Given the description of an element on the screen output the (x, y) to click on. 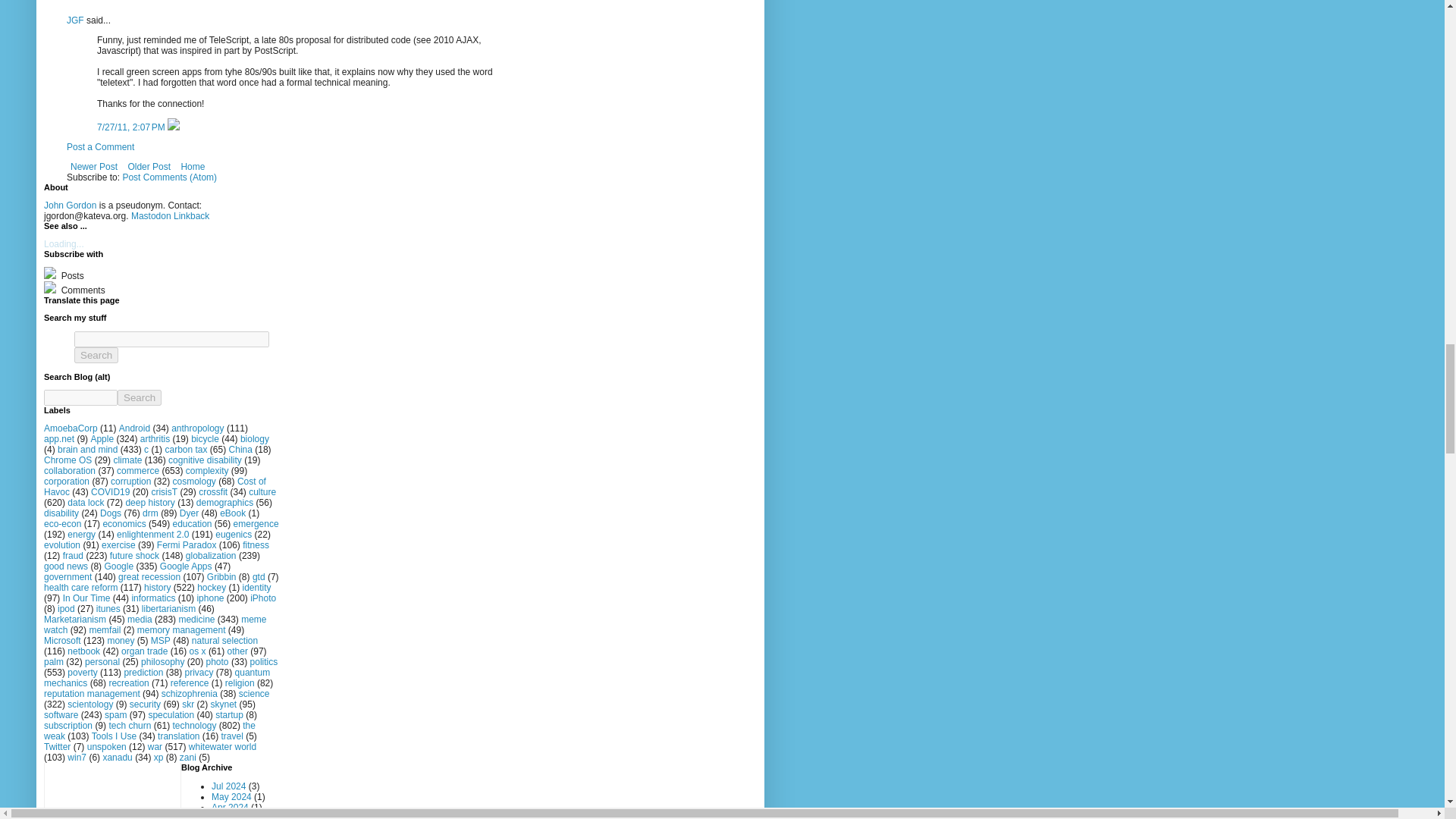
Delete Comment (173, 127)
comment permalink (132, 127)
Search (95, 355)
Search (139, 397)
Post a Comment (99, 146)
John Gordon (69, 204)
Home (192, 167)
Search (139, 397)
JGF (75, 20)
Newer Post (93, 167)
Older Post (148, 167)
